Given the description of an element on the screen output the (x, y) to click on. 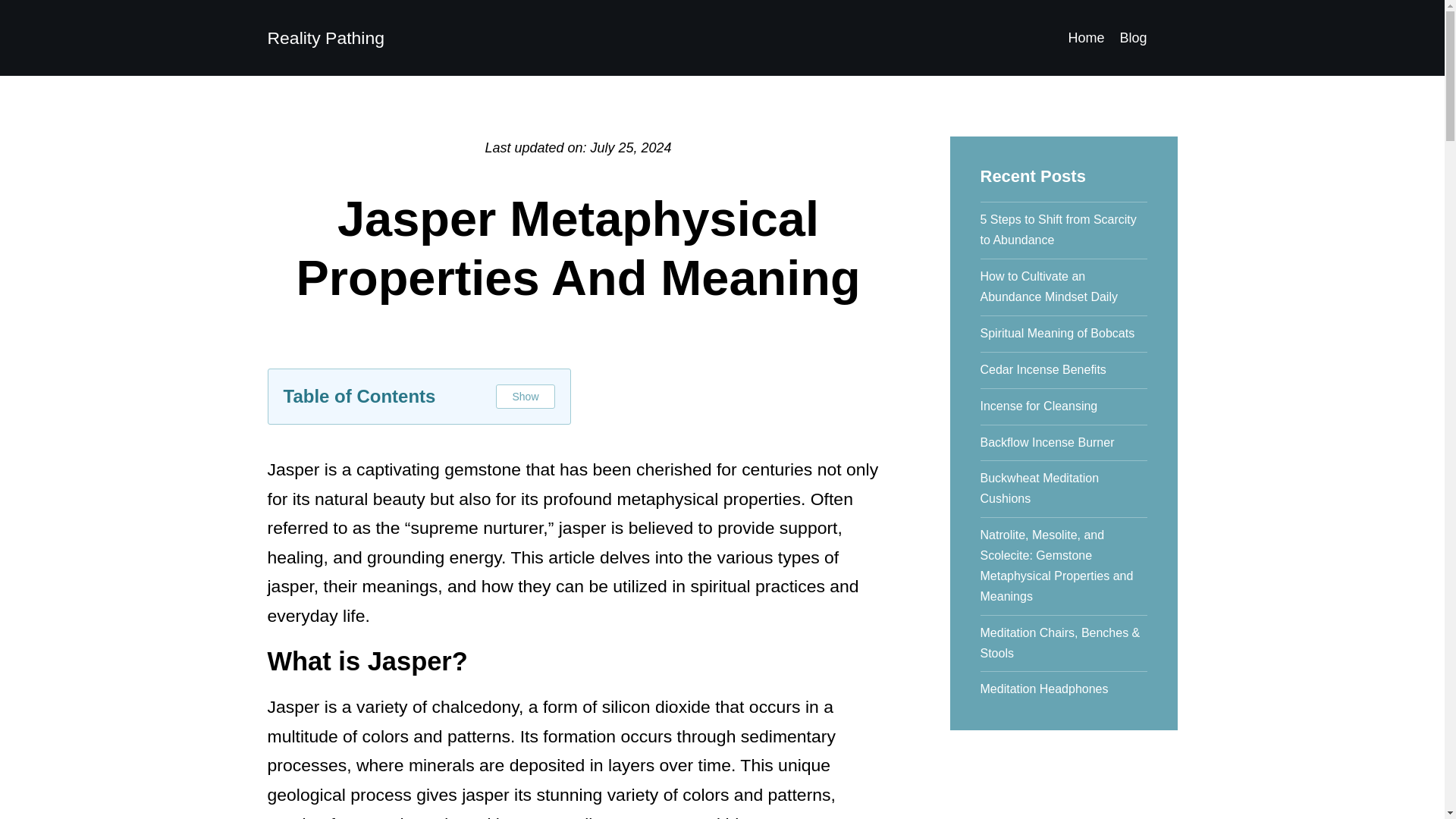
Blog (1133, 37)
Meditation Headphones (1063, 685)
Home (1085, 37)
How to Cultivate an Abundance Mindset Daily (1063, 287)
Buckwheat Meditation Cushions (1063, 489)
5 Steps to Shift from Scarcity to Abundance (1063, 230)
Cedar Incense Benefits (1063, 370)
Spiritual Meaning of Bobcats (1063, 334)
Backflow Incense Burner (1063, 443)
